Given the description of an element on the screen output the (x, y) to click on. 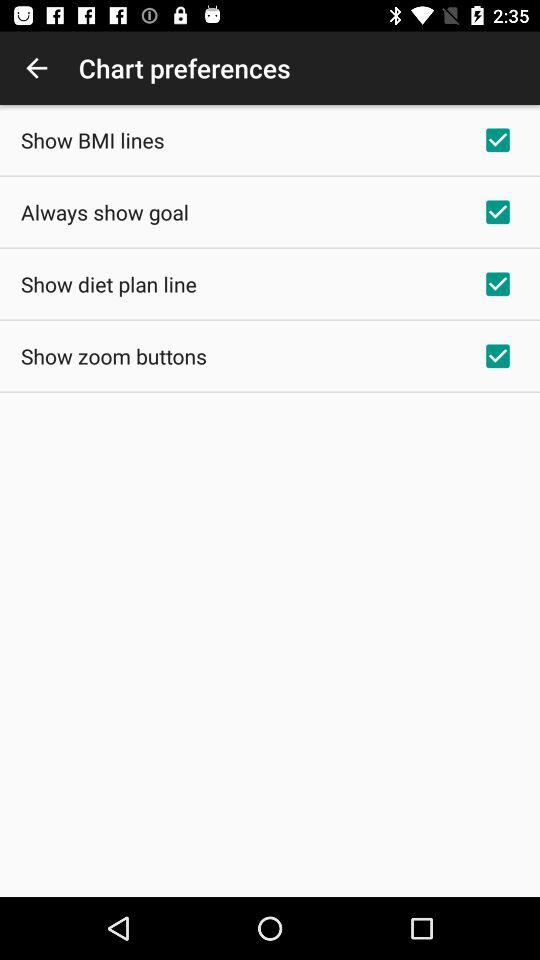
scroll until the show diet plan icon (108, 284)
